Given the description of an element on the screen output the (x, y) to click on. 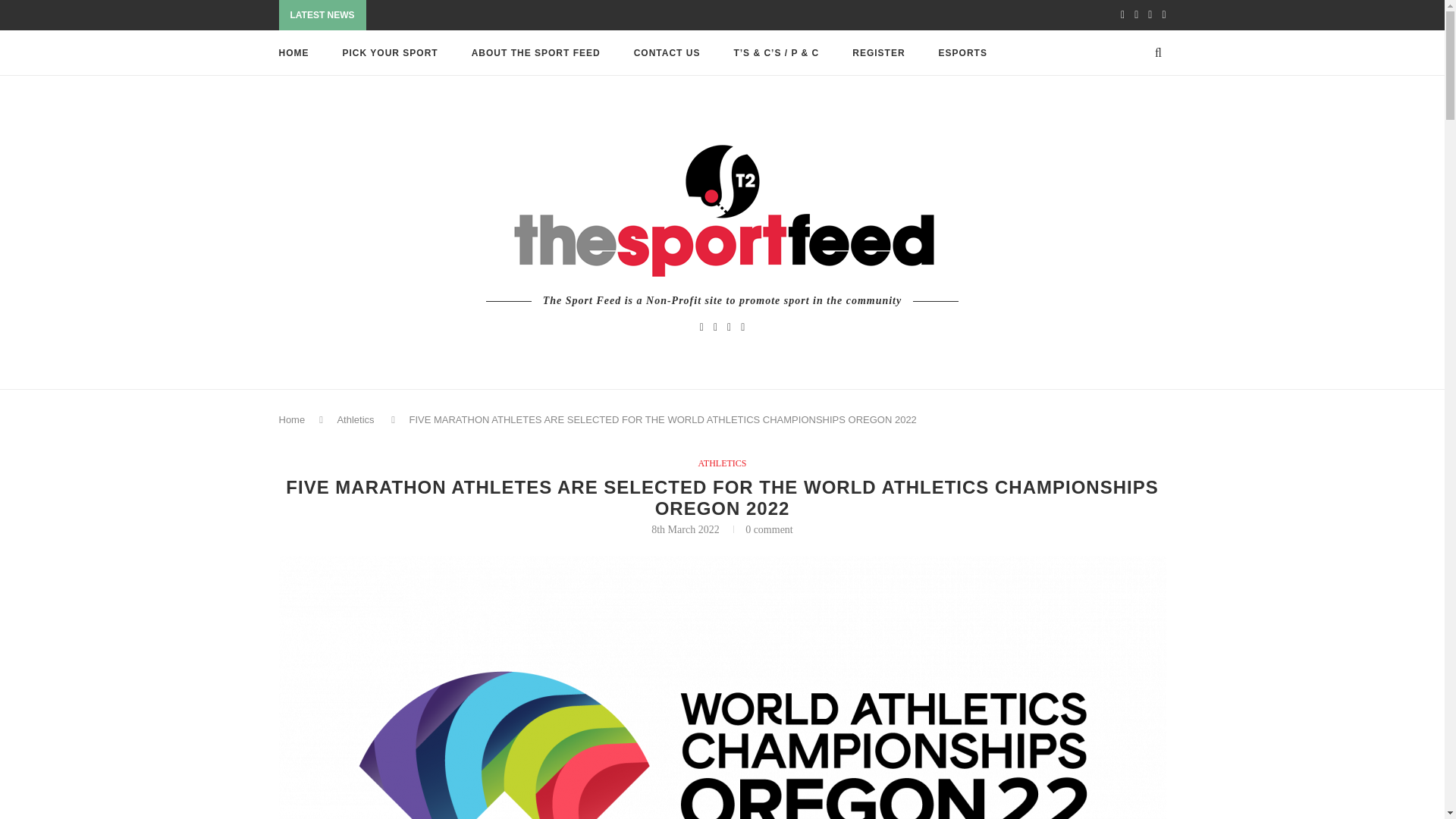
ABOUT THE SPORT FEED (535, 53)
PICK YOUR SPORT (390, 53)
View all posts in Athletics (721, 462)
